Given the description of an element on the screen output the (x, y) to click on. 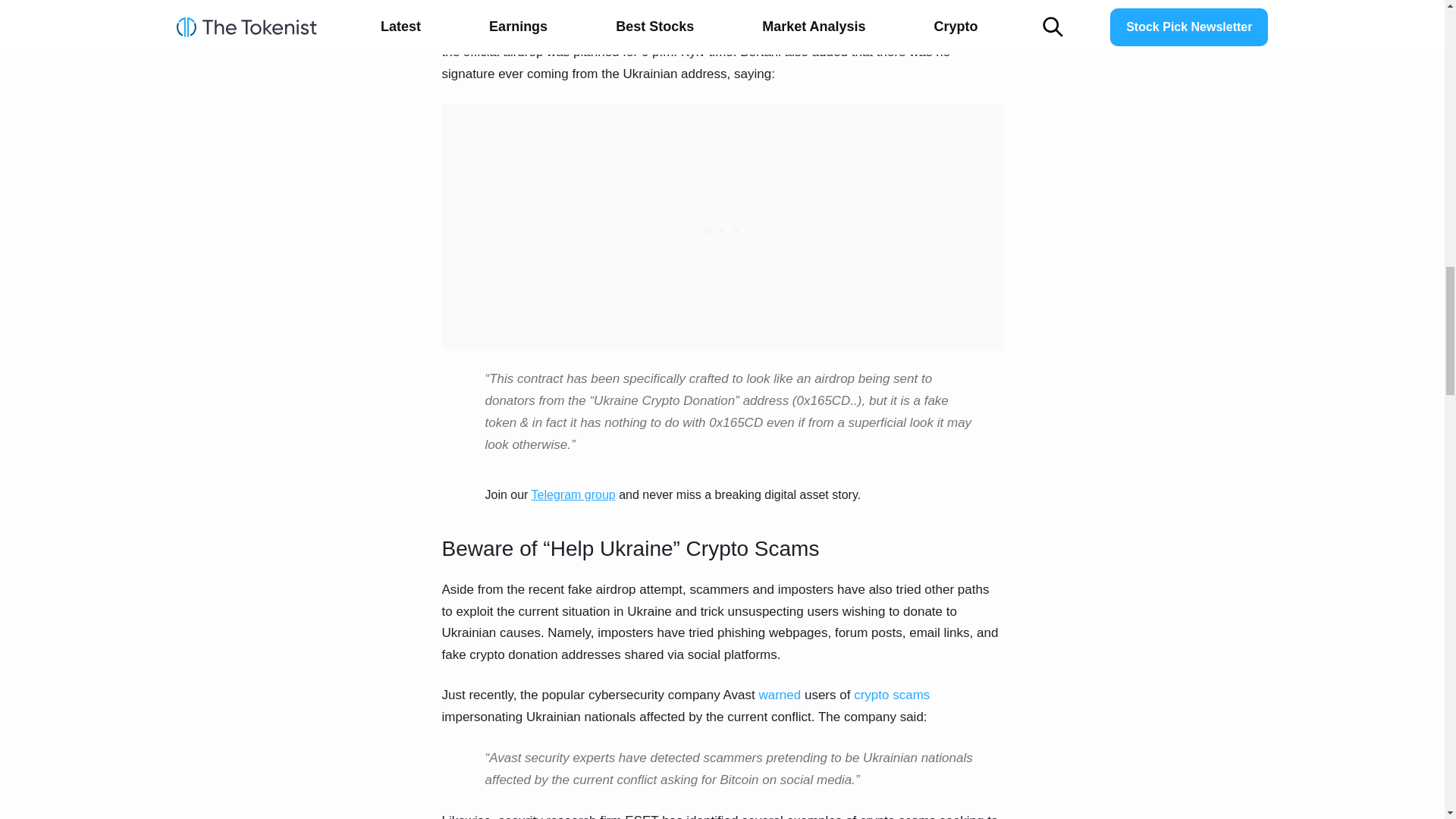
crypto scams (890, 694)
warned (779, 694)
Telegram group (573, 494)
